Given the description of an element on the screen output the (x, y) to click on. 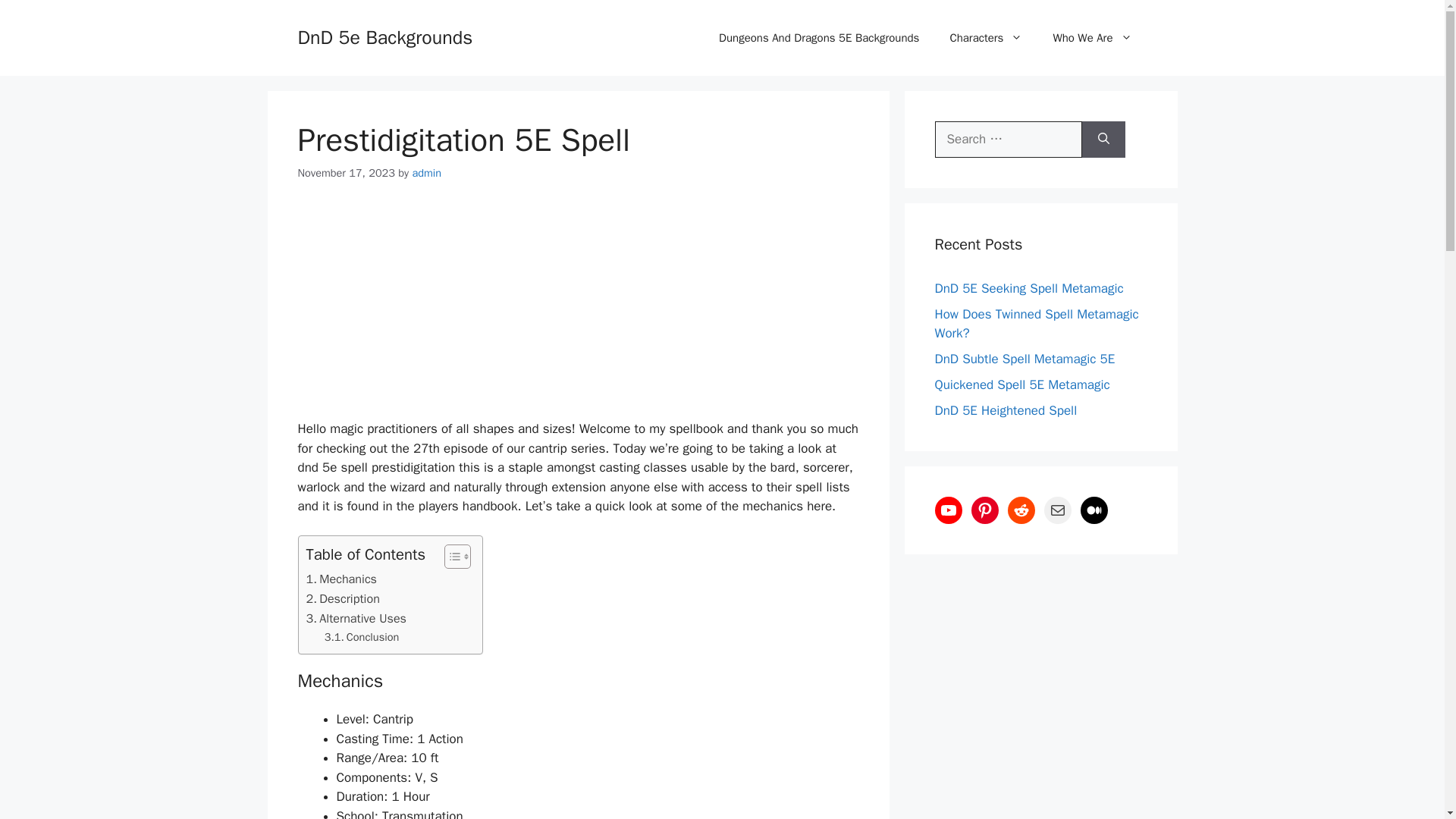
DnD Subtle Spell Metamagic 5E (1024, 358)
DnD 5e Backgrounds (384, 37)
Conclusion (361, 637)
Mechanics (341, 578)
Search for: (1007, 139)
admin (426, 172)
Alternative Uses (356, 618)
View all posts by admin (426, 172)
Quickened Spell 5E Metamagic (1021, 384)
Advertisement (578, 313)
